Given the description of an element on the screen output the (x, y) to click on. 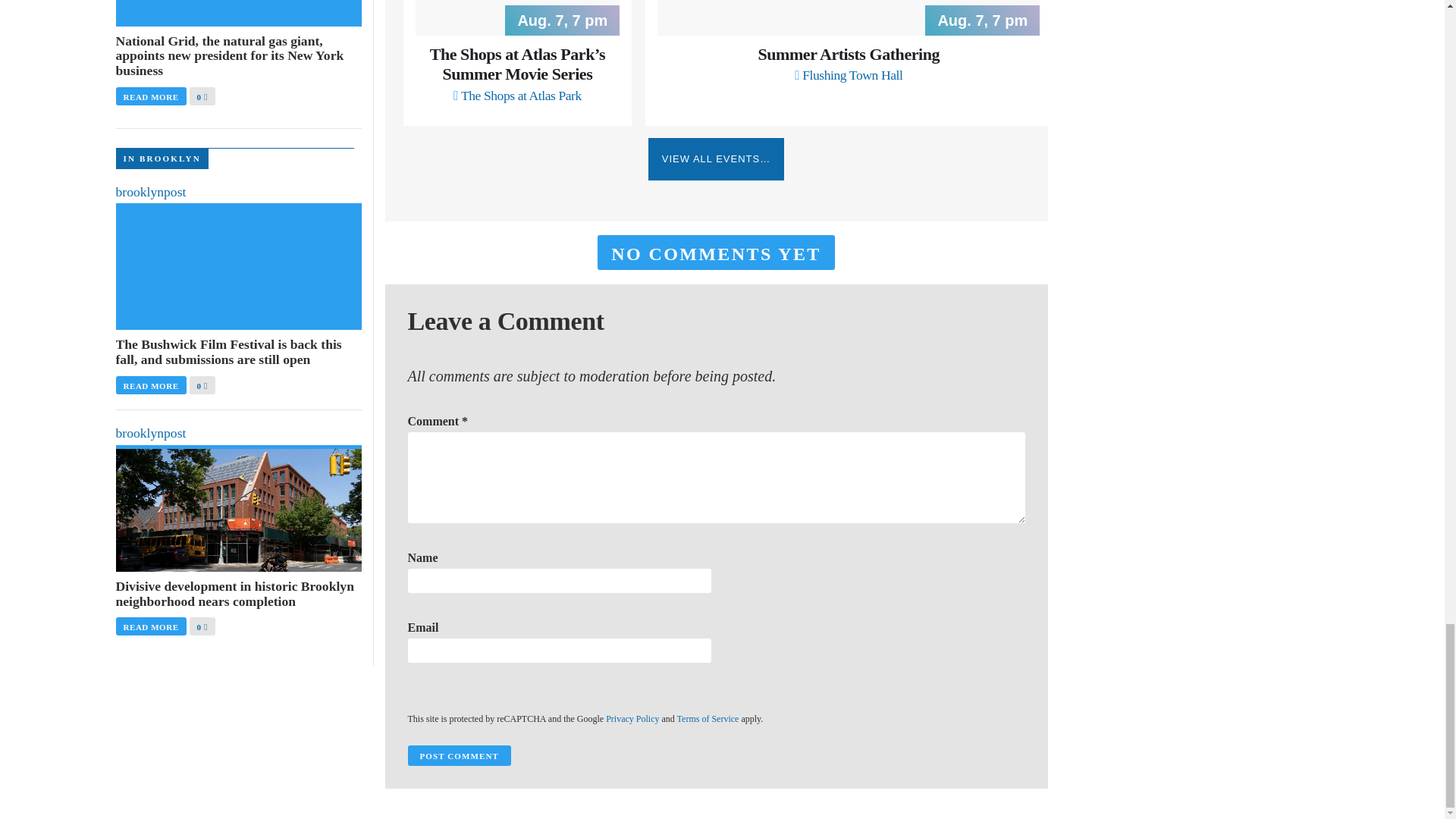
Post Comment (459, 755)
